Given the description of an element on the screen output the (x, y) to click on. 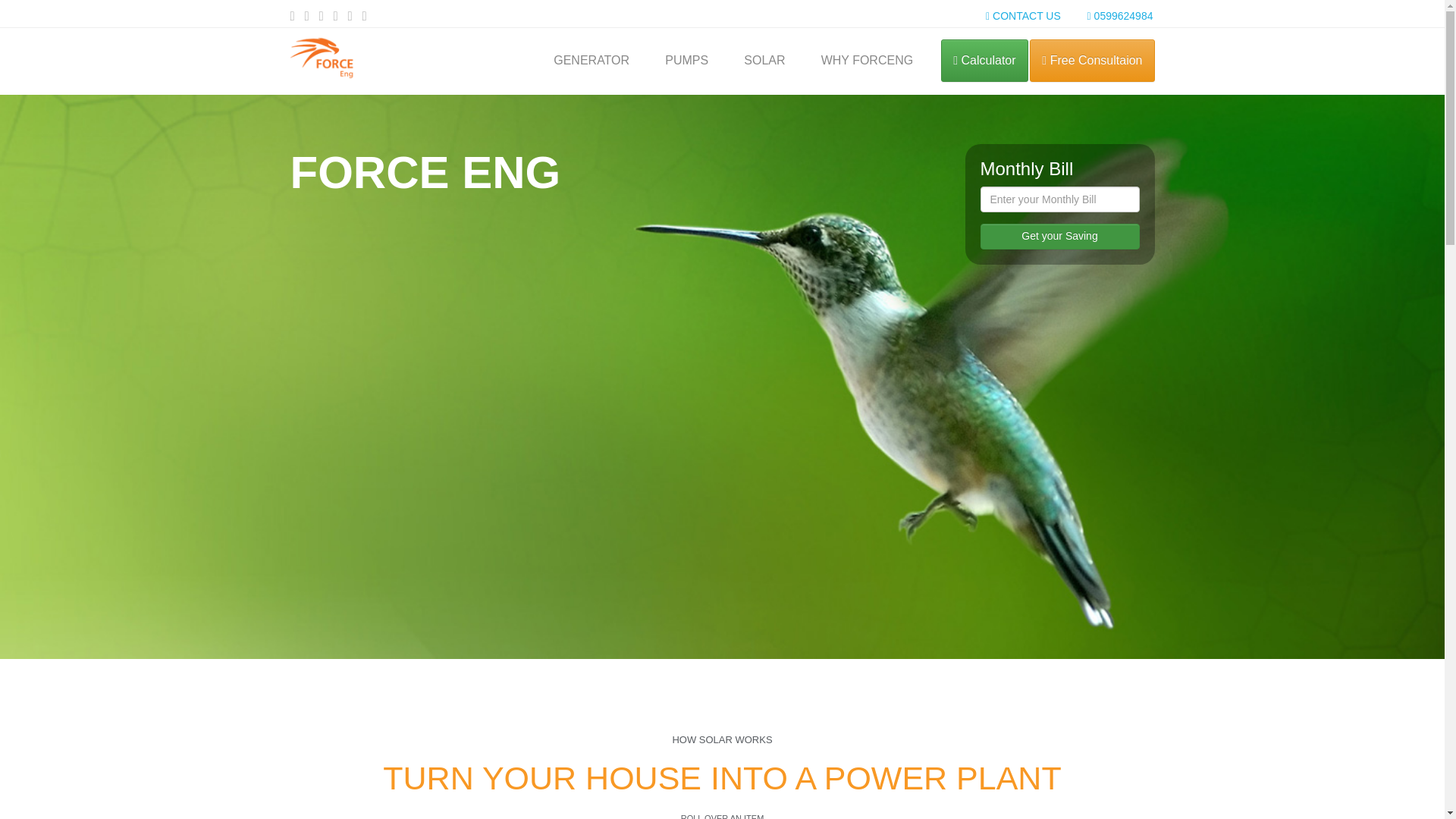
Get your Saving (1058, 236)
Get your Saving (1058, 236)
PUMPS (687, 64)
WHY FORCENG (866, 64)
0599624984 (1120, 15)
SOLAR (764, 64)
Calculator (983, 60)
CONTACT US (1023, 15)
Free Consultaion (1091, 60)
GENERATOR (591, 64)
